Given the description of an element on the screen output the (x, y) to click on. 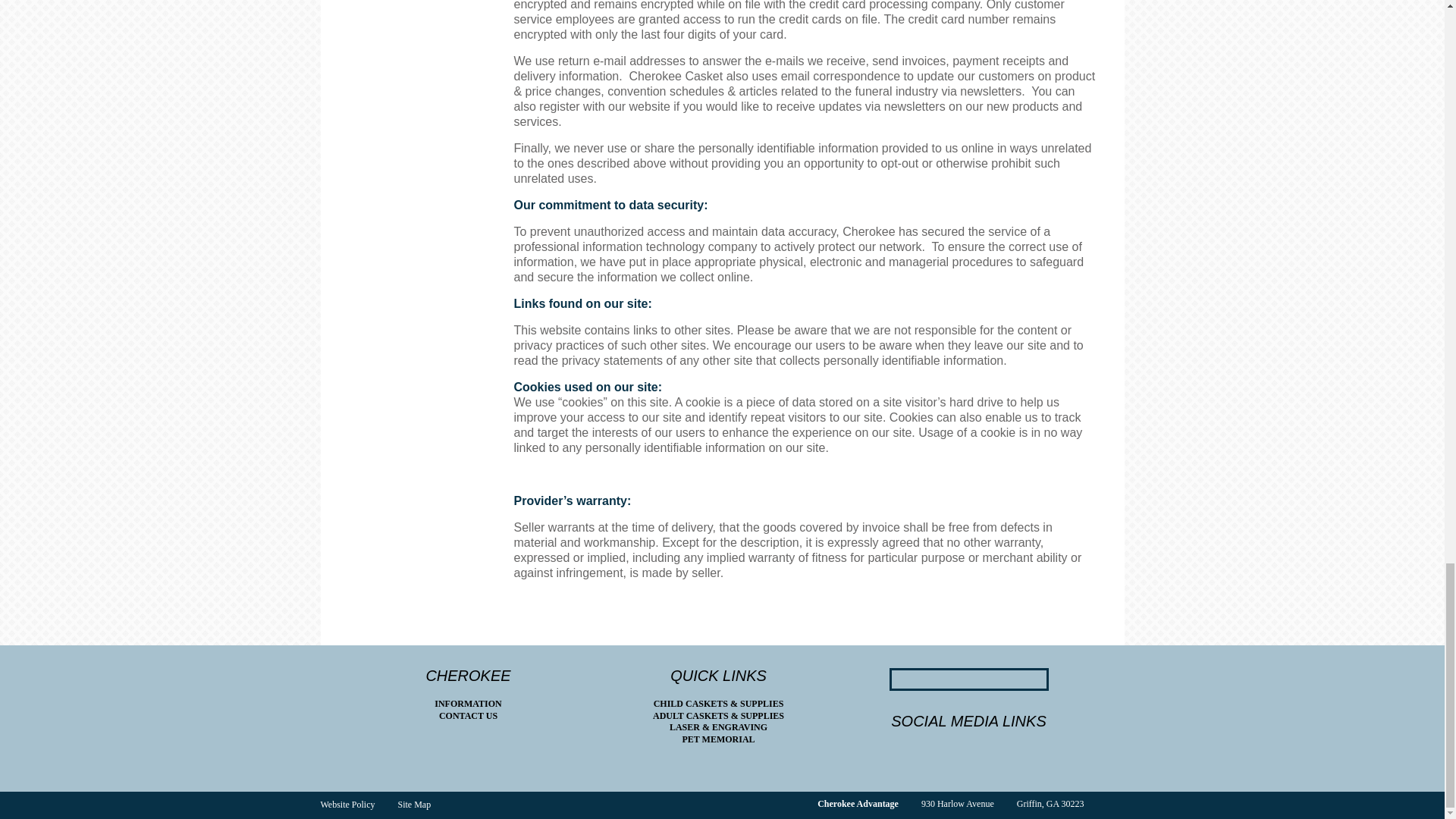
Search (899, 679)
